Given the description of an element on the screen output the (x, y) to click on. 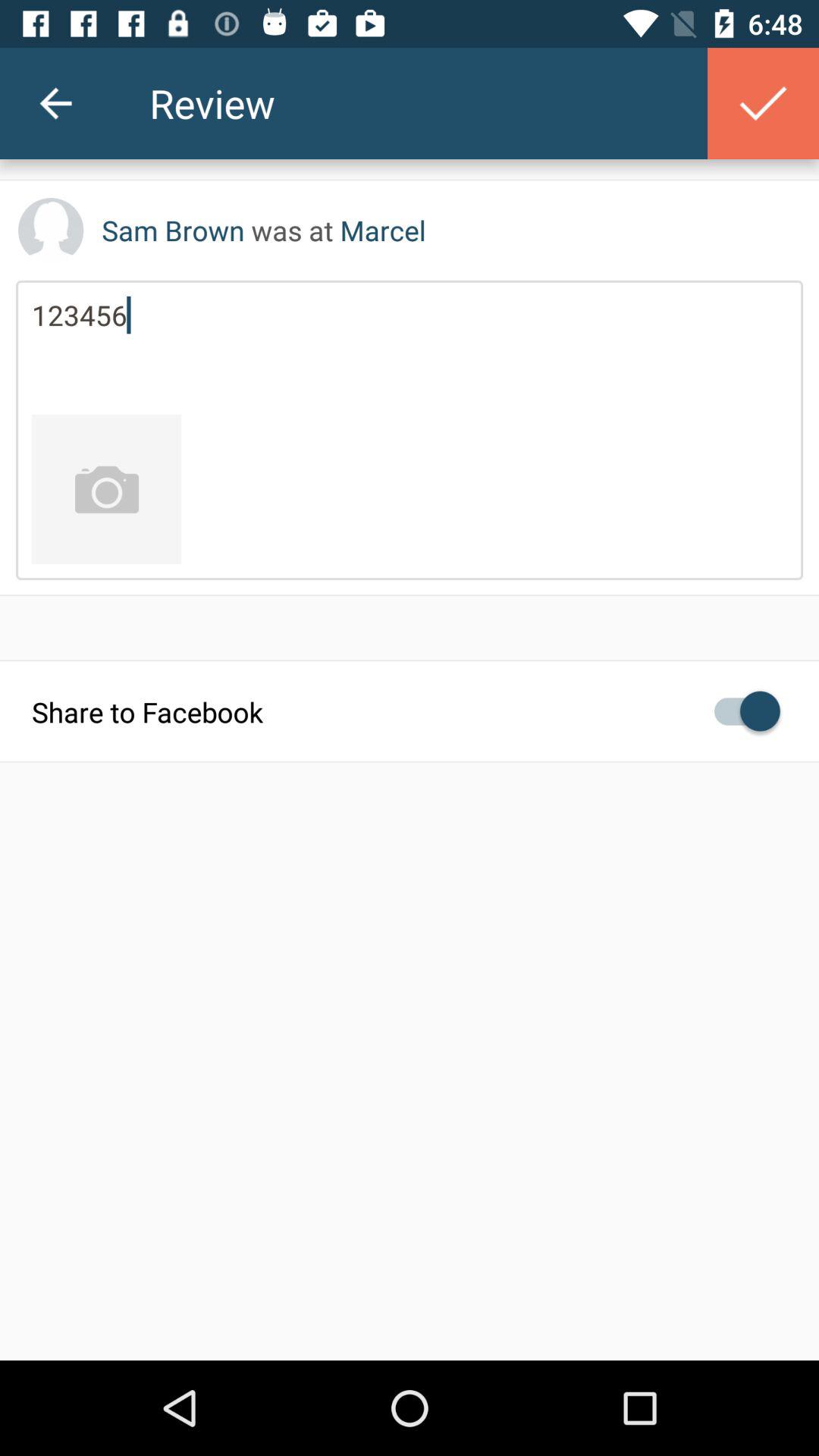
jump until share to facebook item (409, 710)
